Given the description of an element on the screen output the (x, y) to click on. 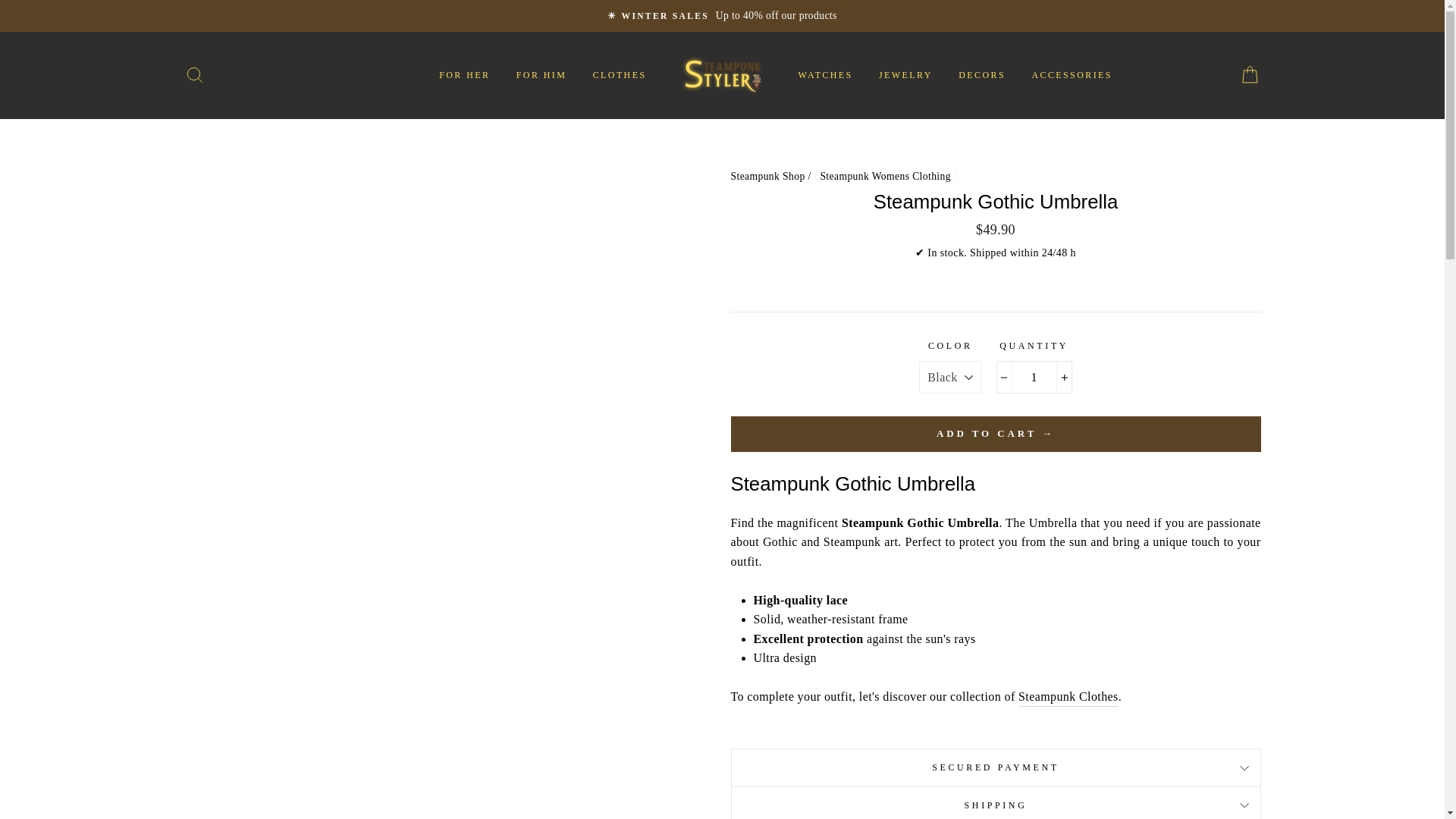
1 (1033, 377)
Back to the frontpage (769, 175)
Steampunk Clothes (1067, 697)
